Given the description of an element on the screen output the (x, y) to click on. 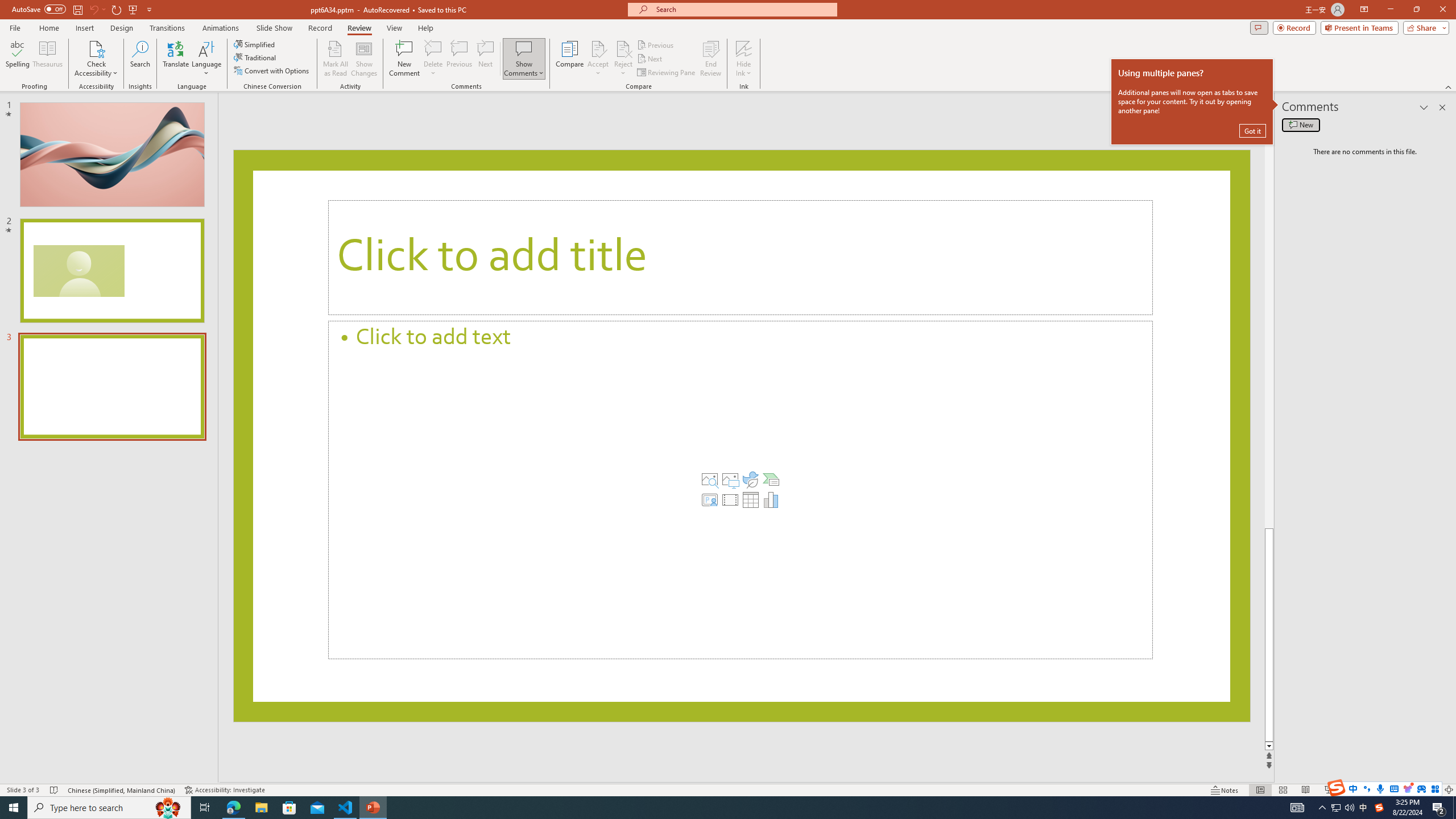
Got it (1252, 130)
Zoom 140% (1430, 790)
Next (649, 58)
